Given the description of an element on the screen output the (x, y) to click on. 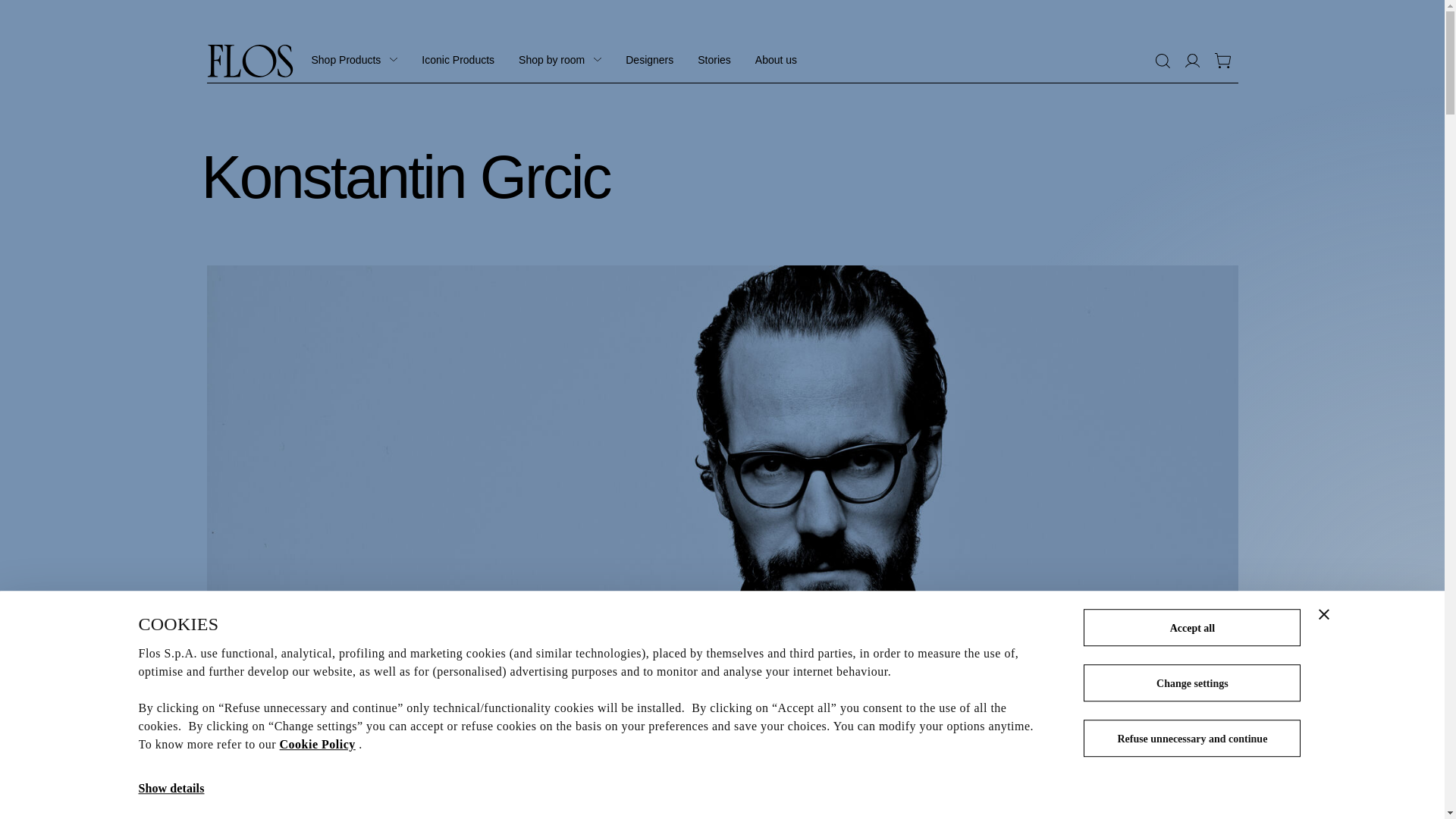
Show details (170, 788)
Cookie Policy (317, 744)
